Given the description of an element on the screen output the (x, y) to click on. 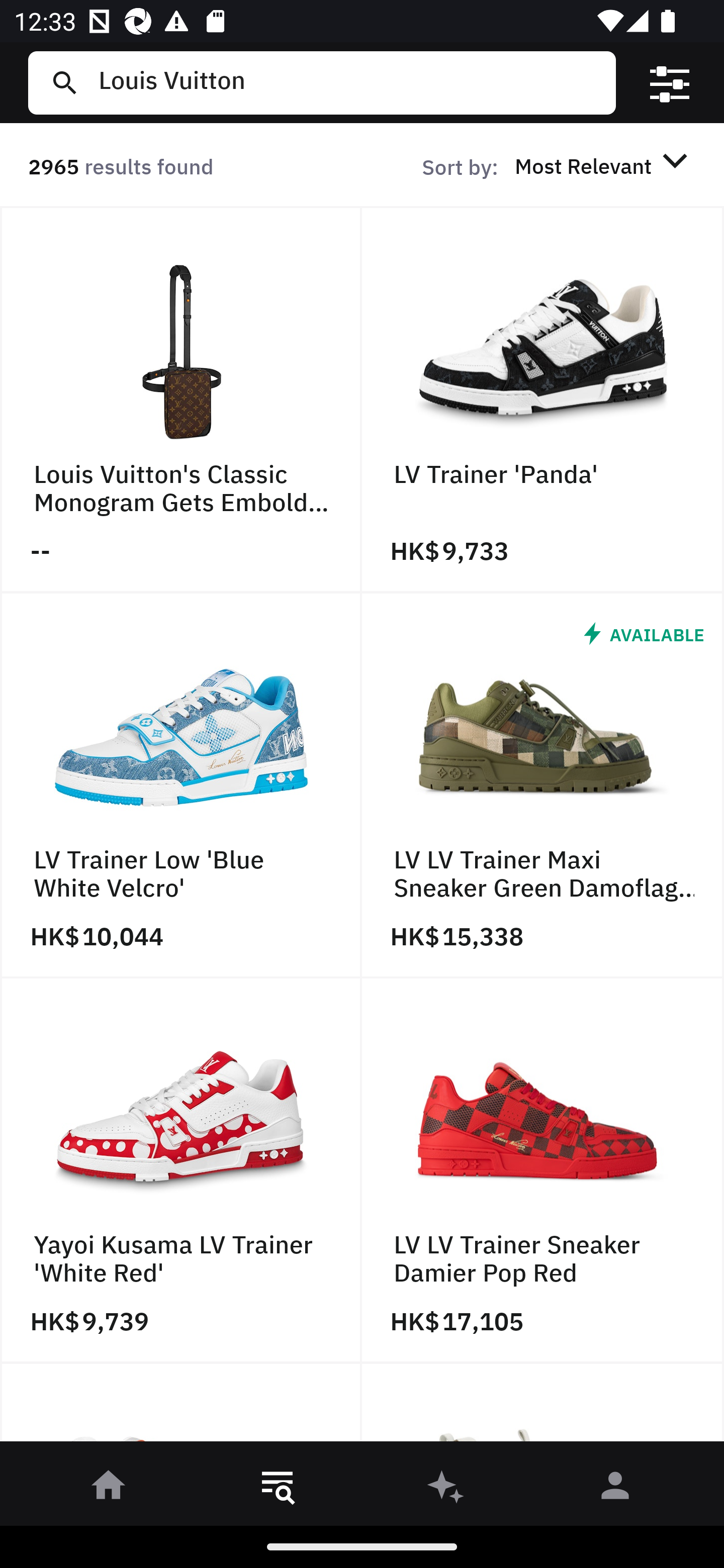
Louis Vuitton (349, 82)
 (669, 82)
Most Relevant  (604, 165)
LV Trainer 'Panda' HK$ 9,733 (543, 399)
LV Trainer Low 'Blue White Velcro' HK$ 10,044 (181, 785)
Yayoi Kusama LV Trainer 'White Red' HK$ 9,739 (181, 1171)
LV LV Trainer Sneaker Damier Pop Red HK$ 17,105 (543, 1171)
󰋜 (108, 1488)
󱎸 (277, 1488)
󰫢 (446, 1488)
󰀄 (615, 1488)
